Given the description of an element on the screen output the (x, y) to click on. 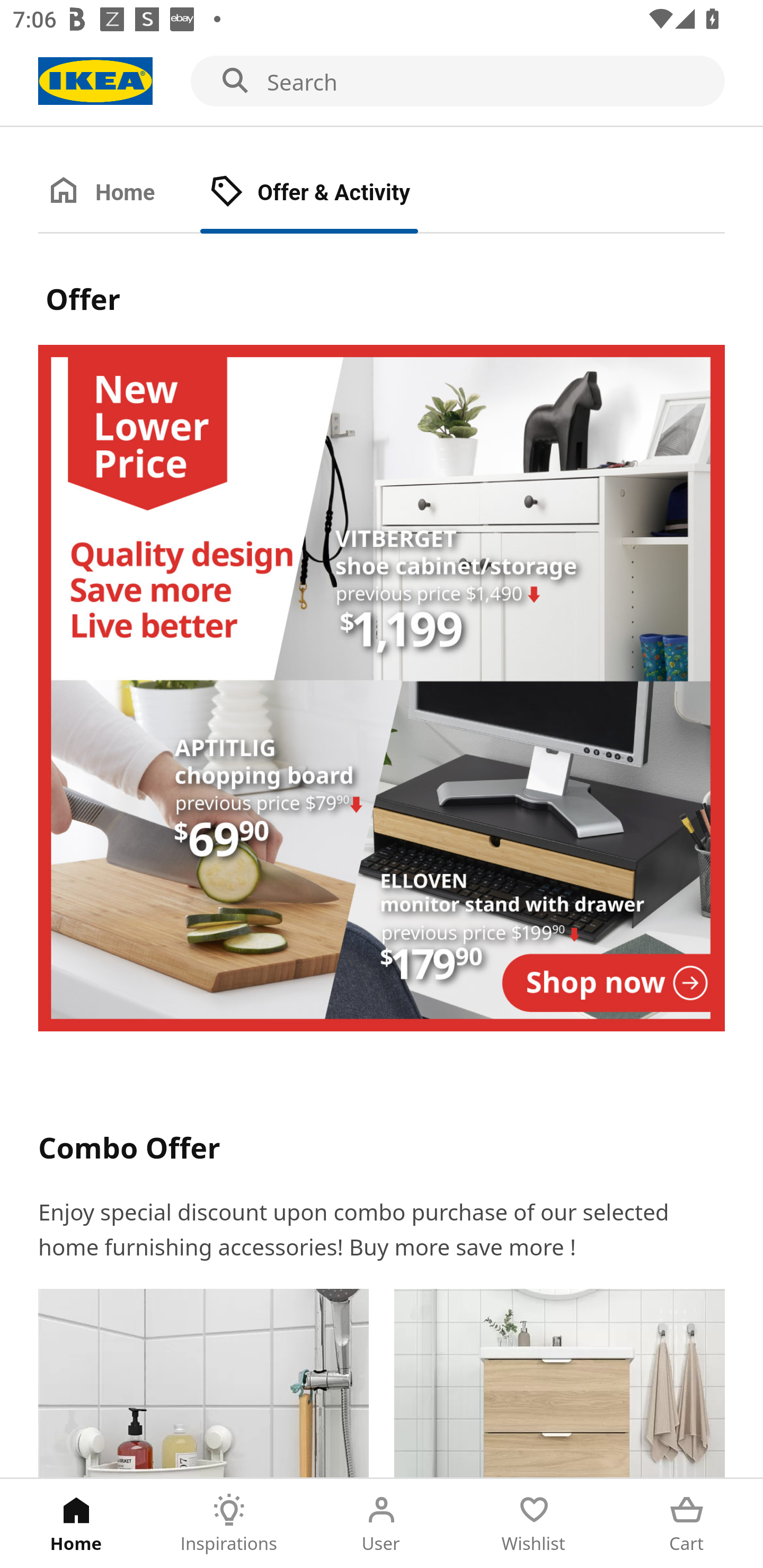
Search (381, 81)
Home
Tab 1 of 2 (118, 192)
Offer & Activity
Tab 2 of 2 (327, 192)
Home
Tab 1 of 5 (76, 1522)
Inspirations
Tab 2 of 5 (228, 1522)
User
Tab 3 of 5 (381, 1522)
Wishlist
Tab 4 of 5 (533, 1522)
Cart
Tab 5 of 5 (686, 1522)
